Given the description of an element on the screen output the (x, y) to click on. 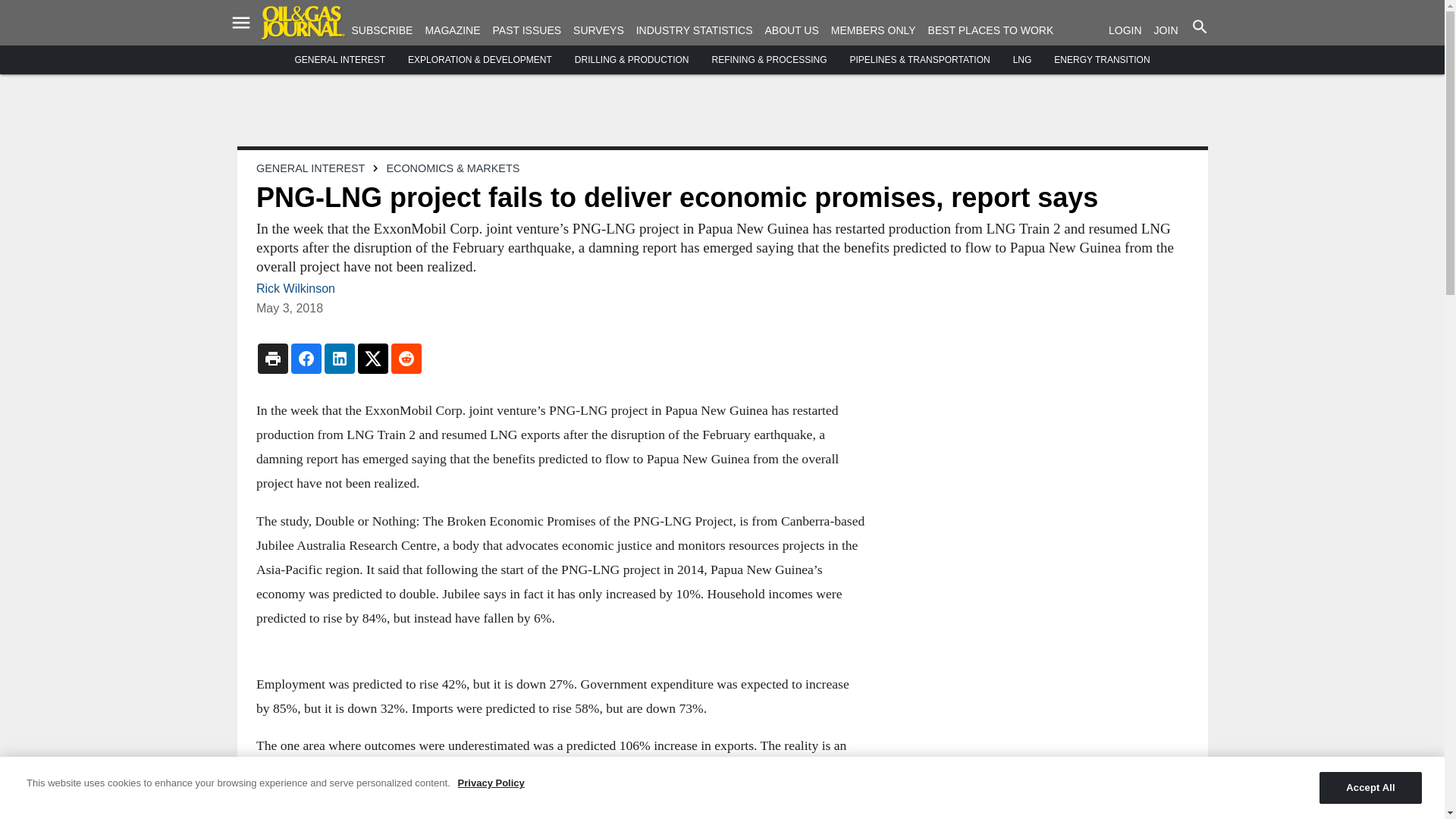
BEST PLACES TO WORK (991, 30)
INDUSTRY STATISTICS (694, 30)
SUBSCRIBE (382, 30)
GENERAL INTEREST (339, 59)
JOIN (1165, 30)
LOGIN (1124, 30)
LNG (1022, 59)
PAST ISSUES (527, 30)
SURVEYS (598, 30)
ENERGY TRANSITION (1102, 59)
MEMBERS ONLY (873, 30)
MAGAZINE (452, 30)
ABOUT US (791, 30)
